Given the description of an element on the screen output the (x, y) to click on. 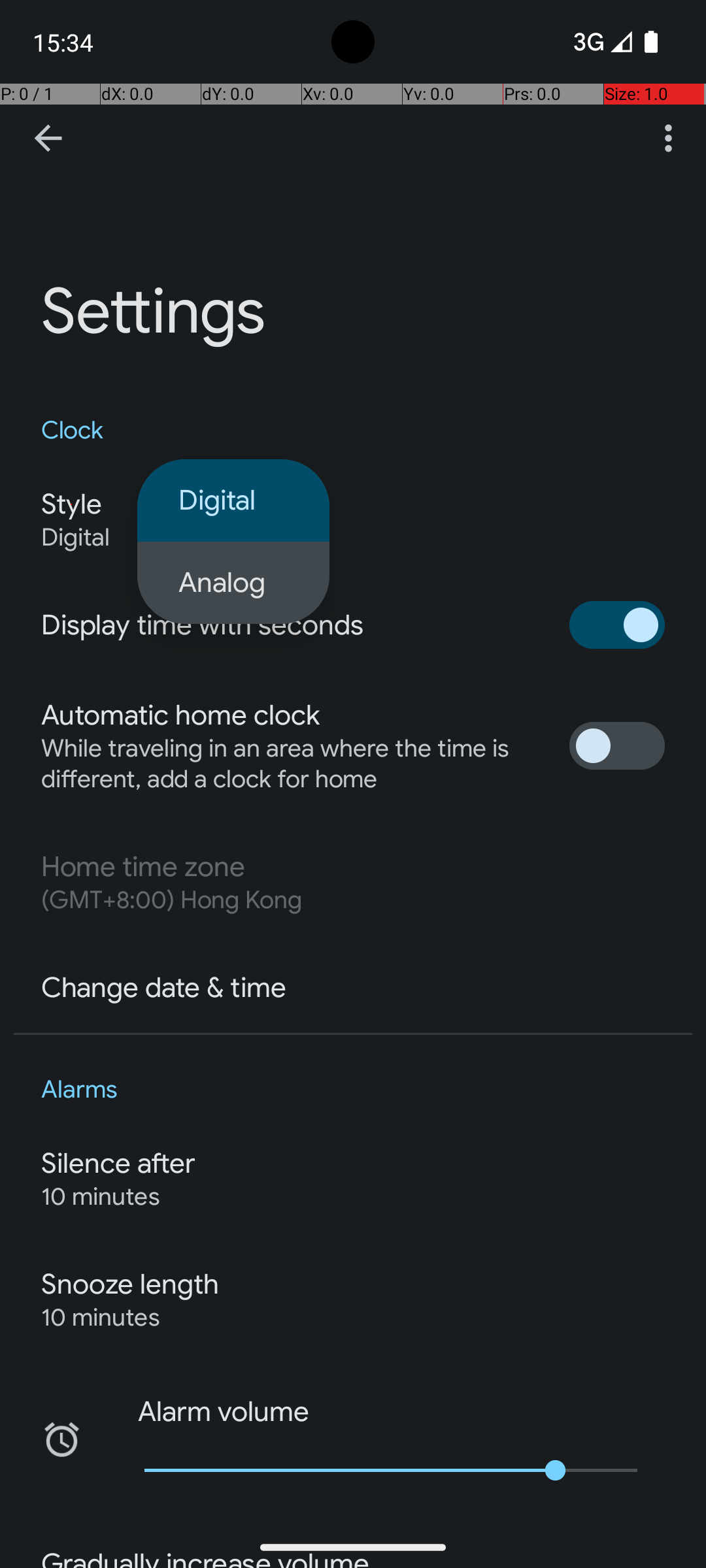
Digital Element type: android.widget.TextView (233, 500)
Analog Element type: android.widget.TextView (233, 582)
